Given the description of an element on the screen output the (x, y) to click on. 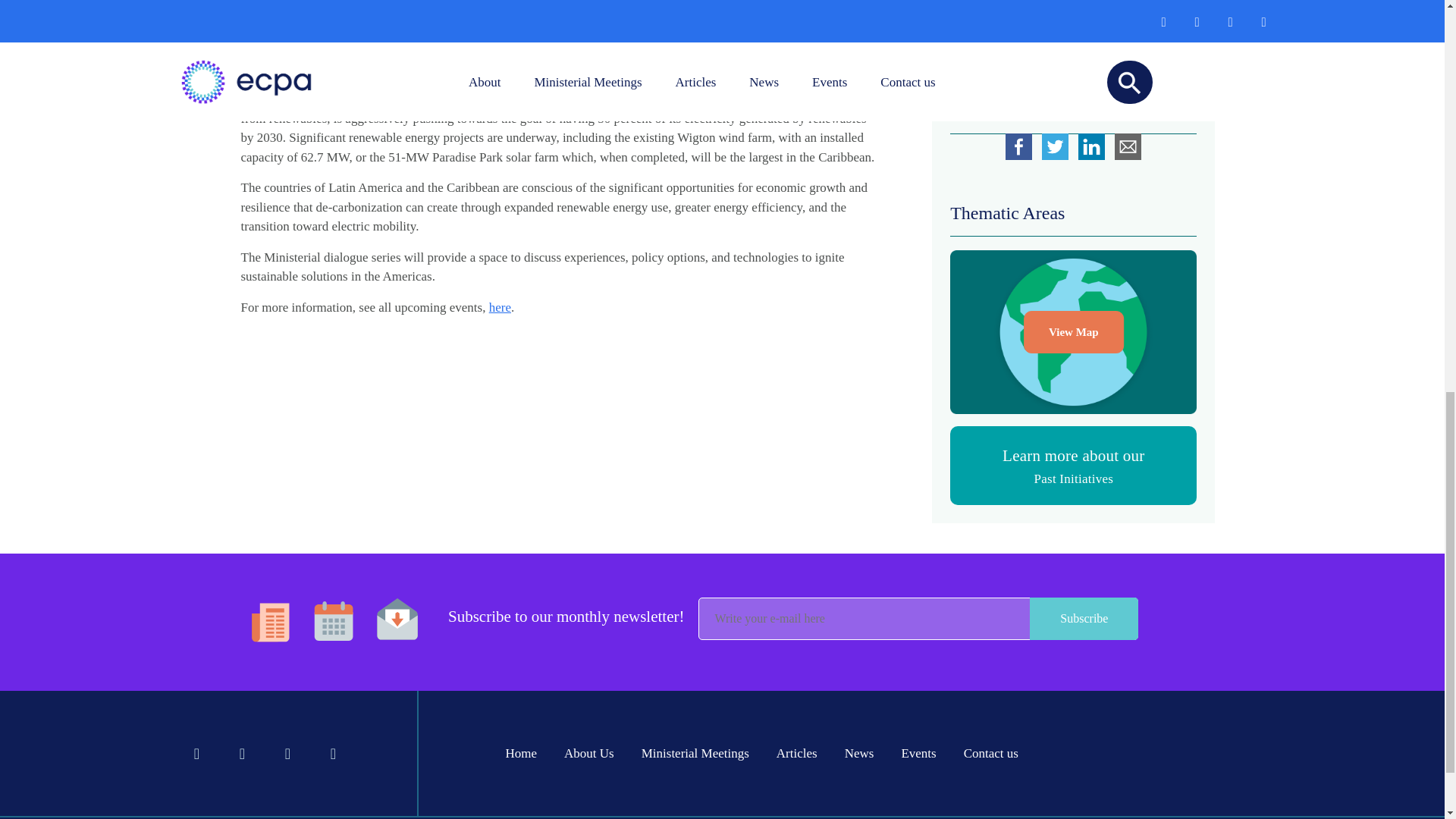
twitter (1054, 146)
email (1127, 146)
linkedin (1091, 146)
facebook (1018, 146)
